Given the description of an element on the screen output the (x, y) to click on. 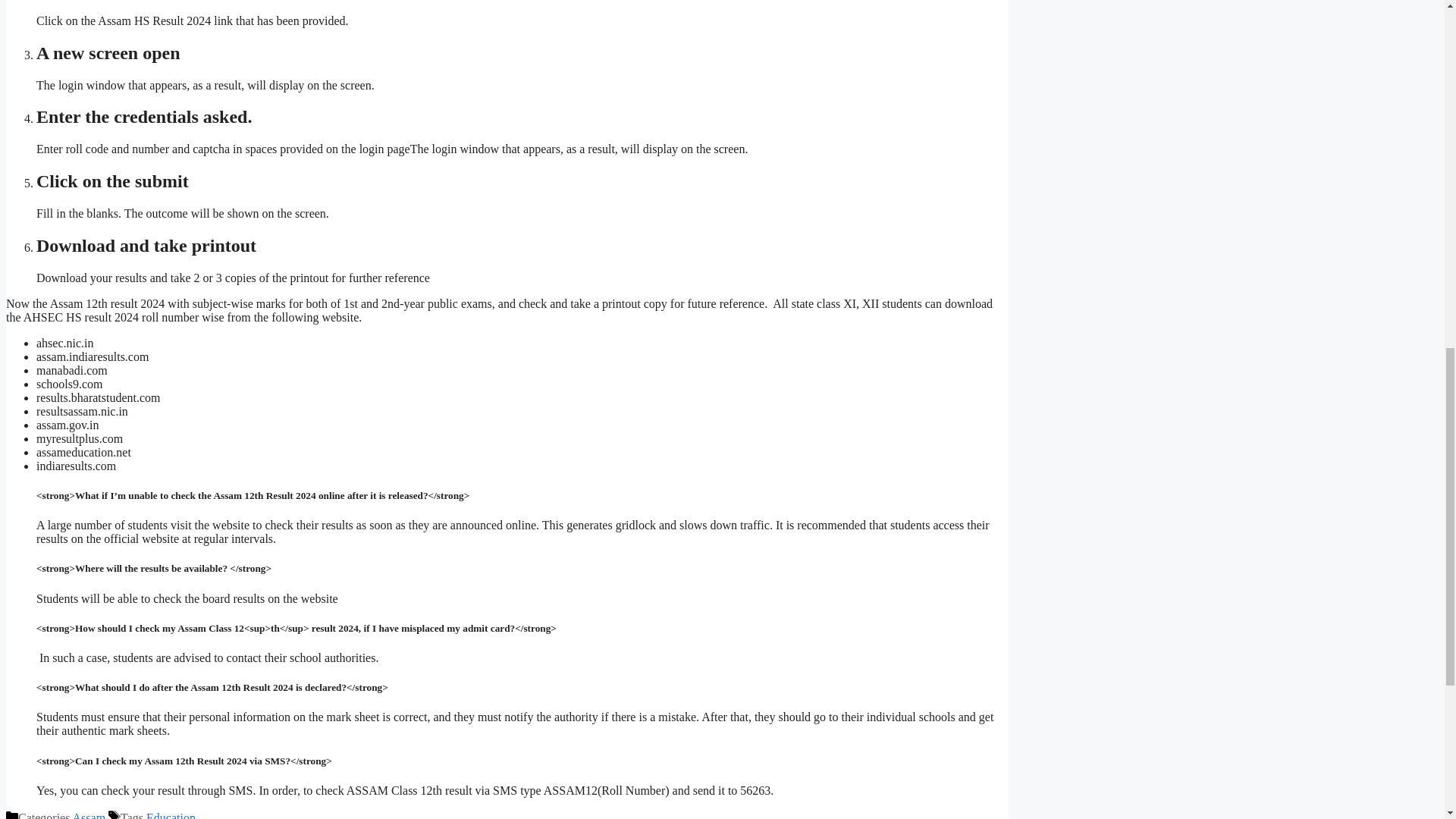
Education (171, 815)
Assam (89, 815)
